Given the description of an element on the screen output the (x, y) to click on. 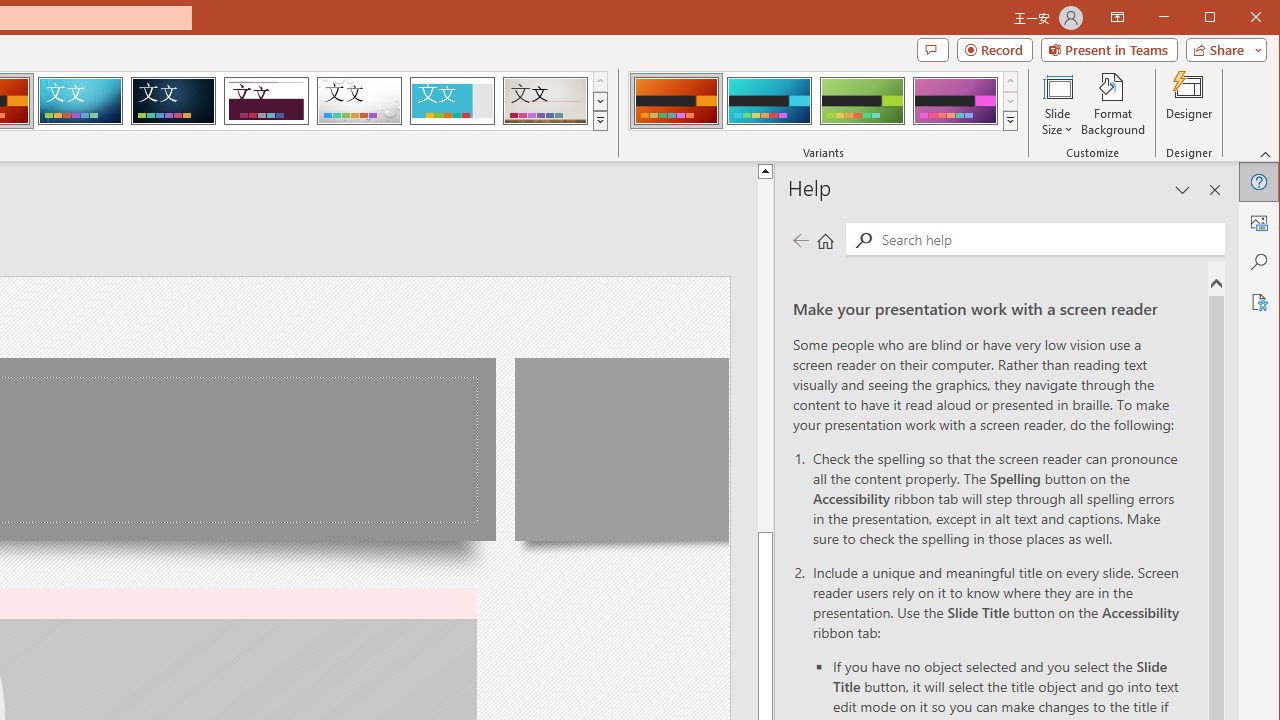
AutomationID: ThemeVariantsGallery (824, 101)
Circuit (80, 100)
Berlin Variant 4 (955, 100)
Damask (173, 100)
